Given the description of an element on the screen output the (x, y) to click on. 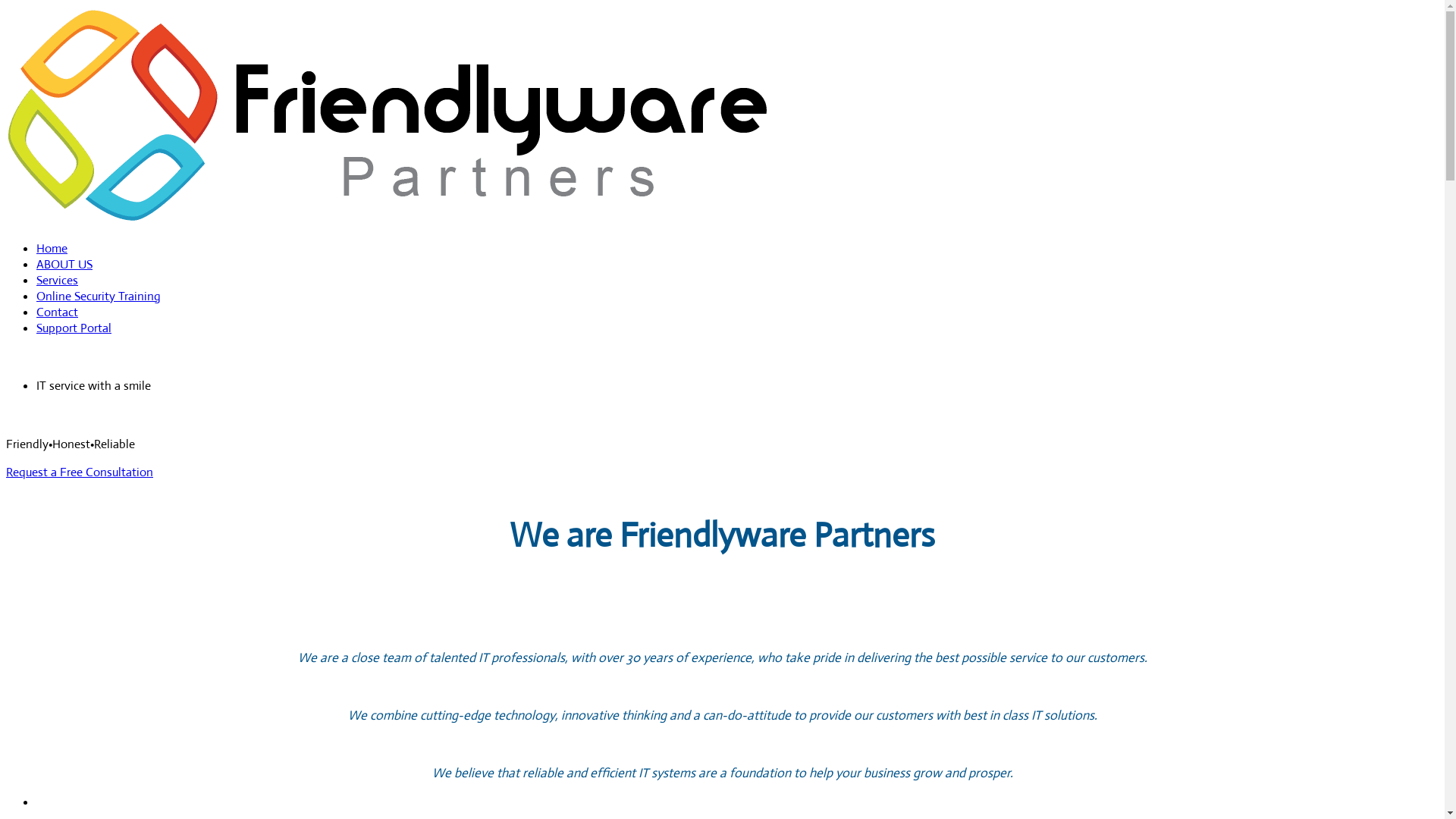
Home Element type: text (51, 248)
Services Element type: text (57, 280)
Contact Element type: text (57, 312)
ABOUT US Element type: text (64, 264)
Request a Free Consultation Element type: text (79, 472)
Online Security Training Element type: text (98, 296)
Support Portal Element type: text (73, 327)
